Given the description of an element on the screen output the (x, y) to click on. 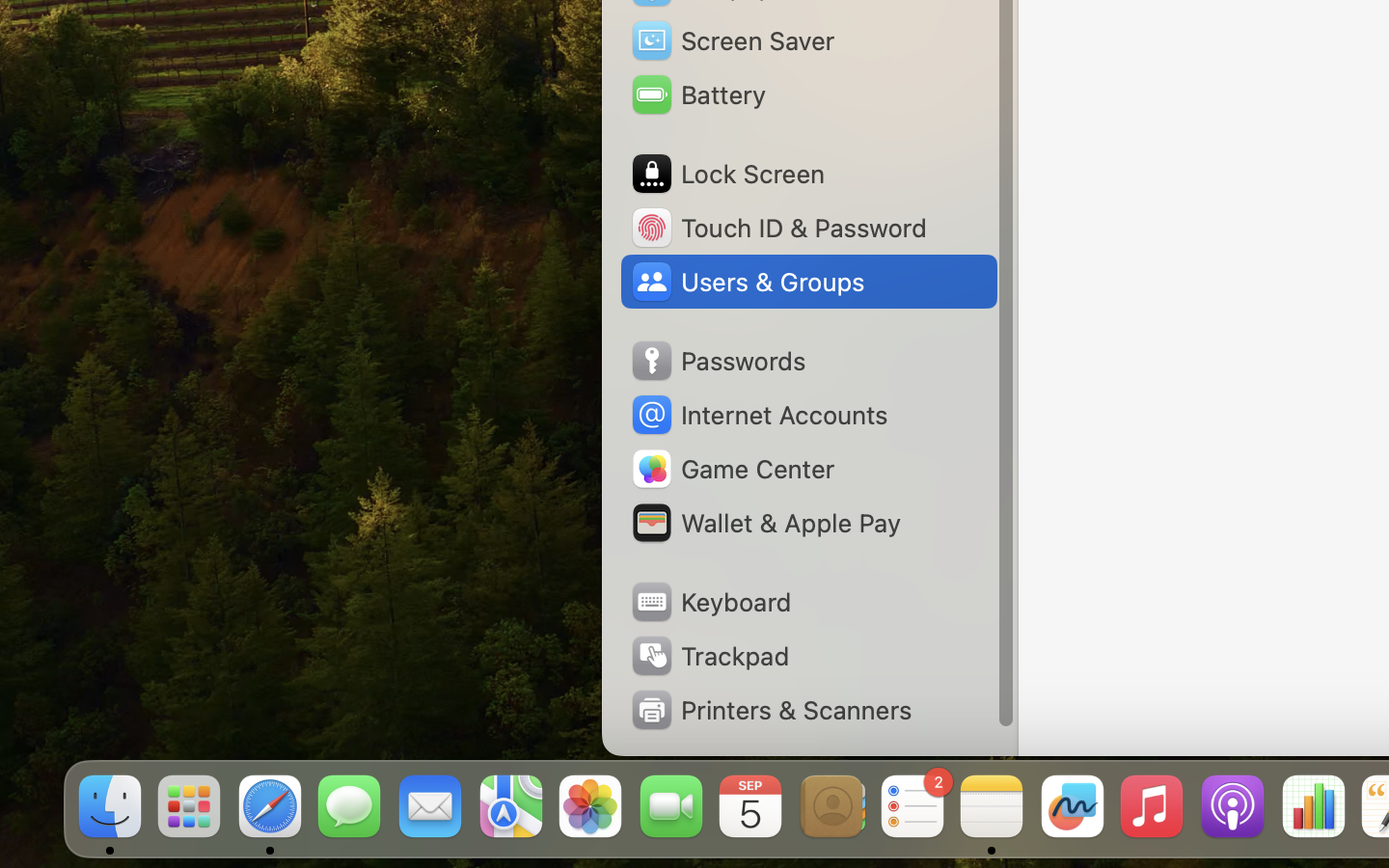
Game Center Element type: AXStaticText (731, 468)
Battery Element type: AXStaticText (696, 94)
